Given the description of an element on the screen output the (x, y) to click on. 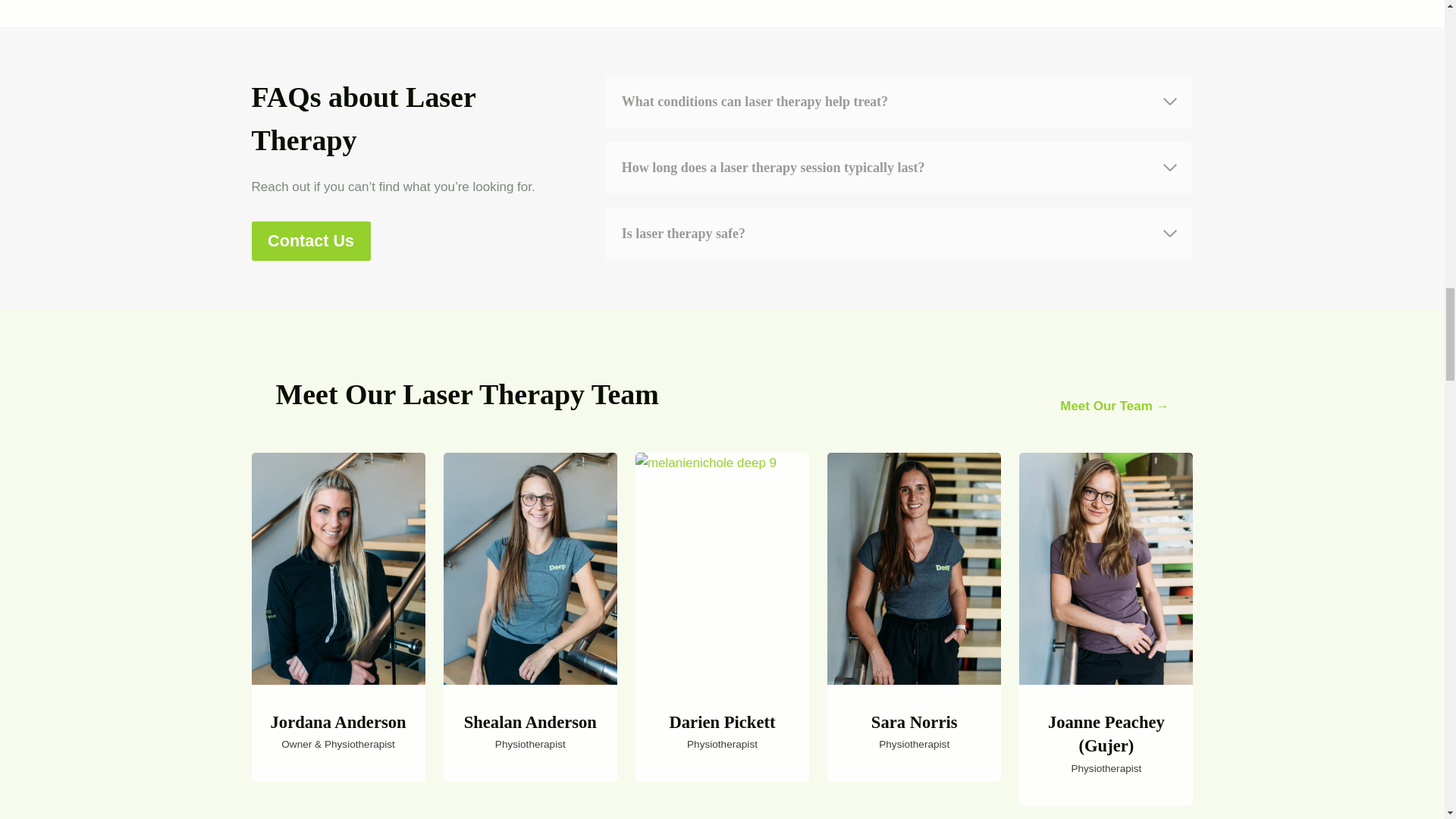
What conditions can laser therapy help treat? (898, 101)
How long does a laser therapy session typically last? (898, 167)
Contact Us (311, 241)
